Given the description of an element on the screen output the (x, y) to click on. 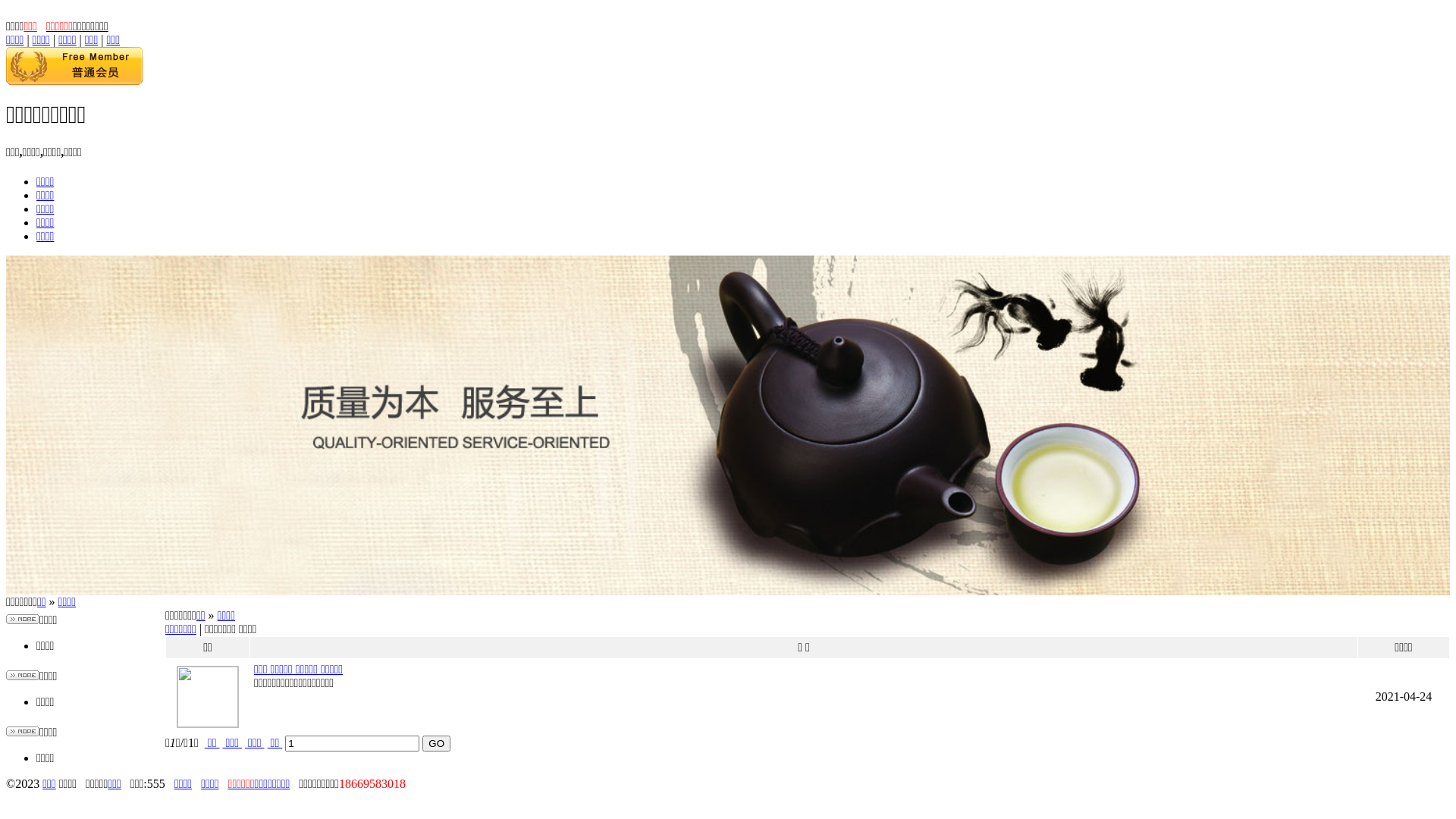
GO Element type: text (436, 743)
